Given the description of an element on the screen output the (x, y) to click on. 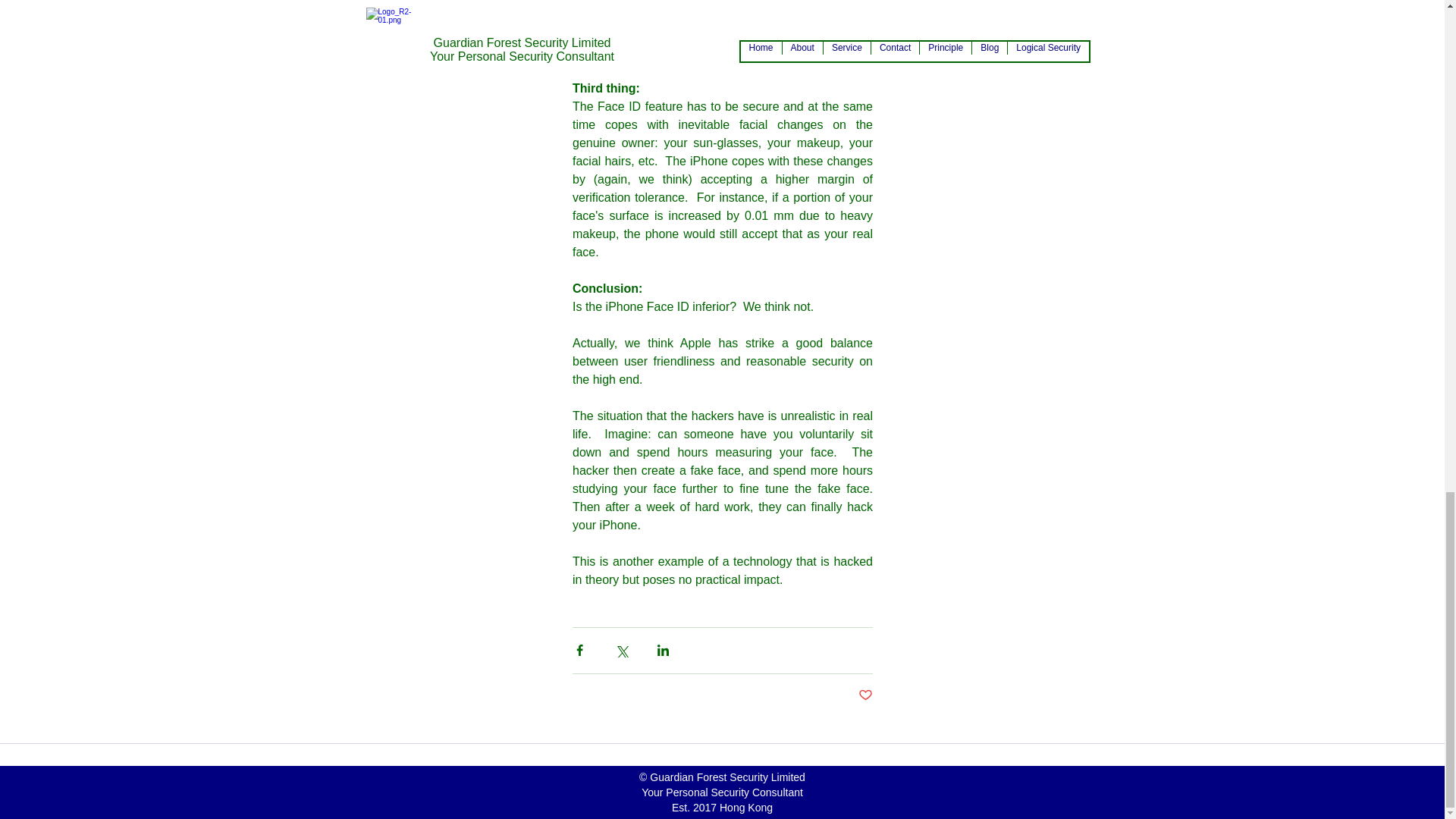
Post not marked as liked (865, 695)
